Given the description of an element on the screen output the (x, y) to click on. 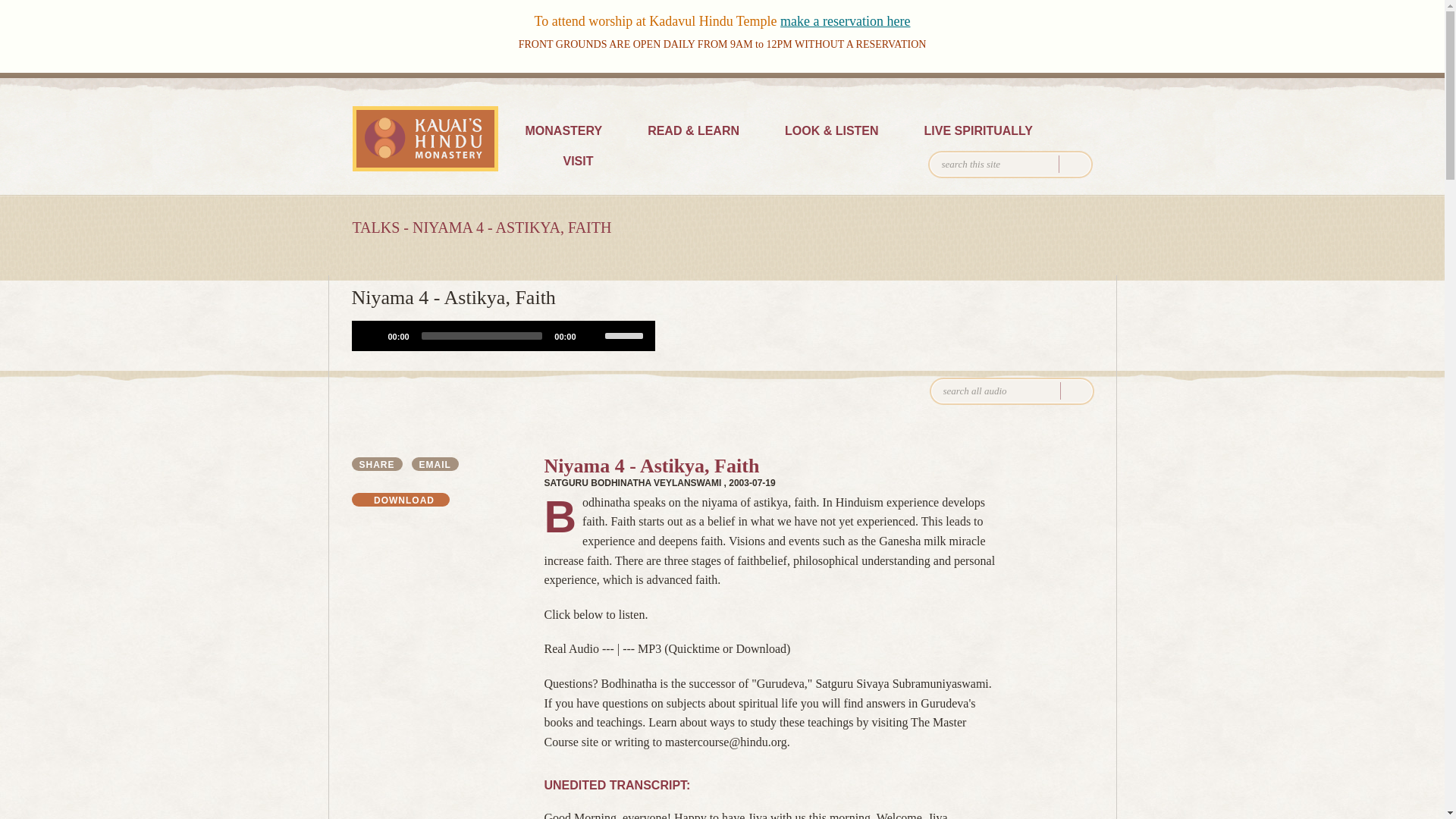
To attend worship at Kadavul Hindu Temple (657, 20)
MONASTERY (563, 131)
Play (371, 335)
Expand Our Network Menu (1056, 85)
Mute (592, 335)
make a reservation here (845, 20)
search all audio (1012, 390)
search this site (1010, 164)
KAUAI'S HINDU MONASTERY (424, 138)
